Given the description of an element on the screen output the (x, y) to click on. 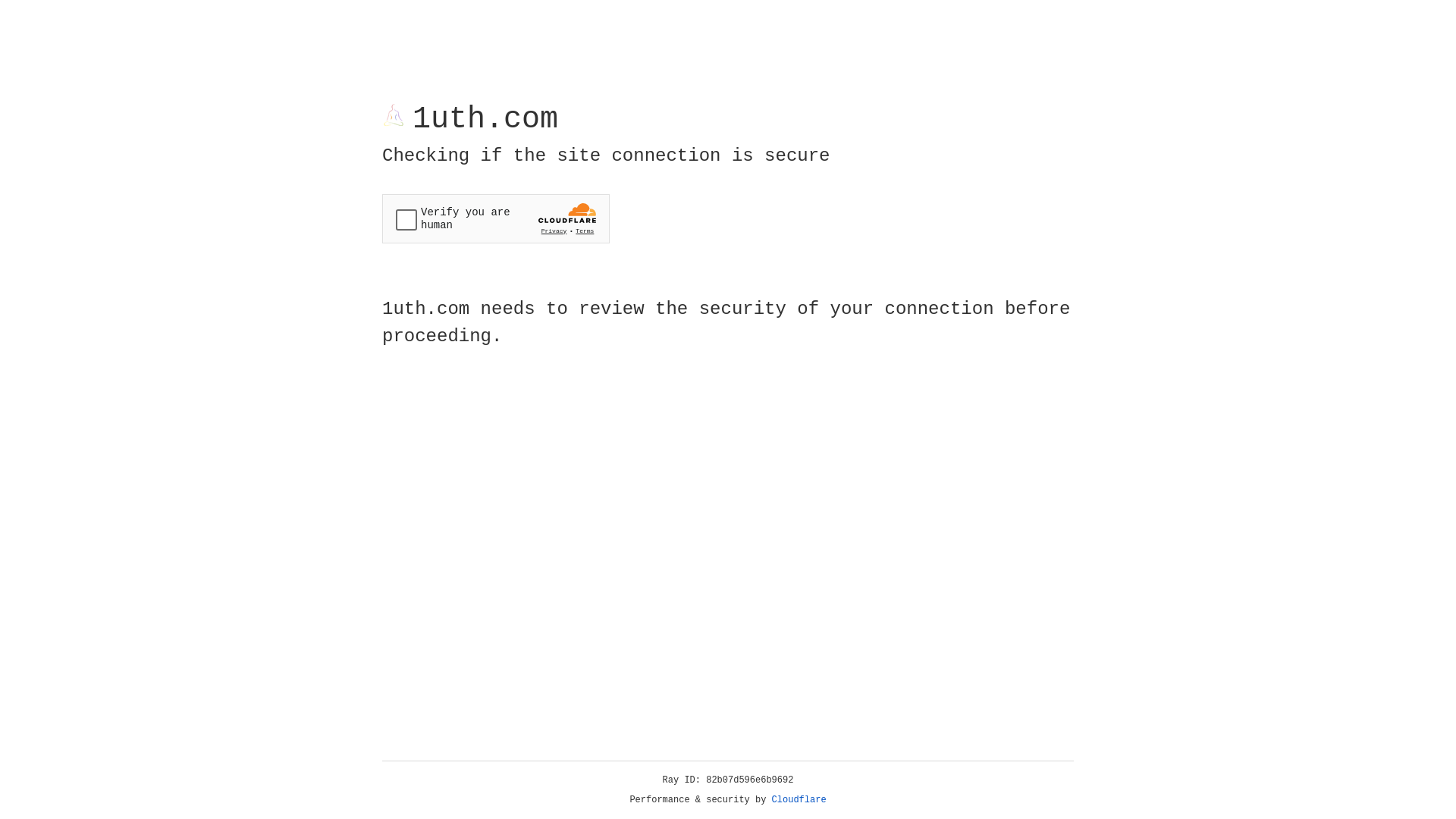
Widget containing a Cloudflare security challenge Element type: hover (495, 218)
Cloudflare Element type: text (798, 799)
